Given the description of an element on the screen output the (x, y) to click on. 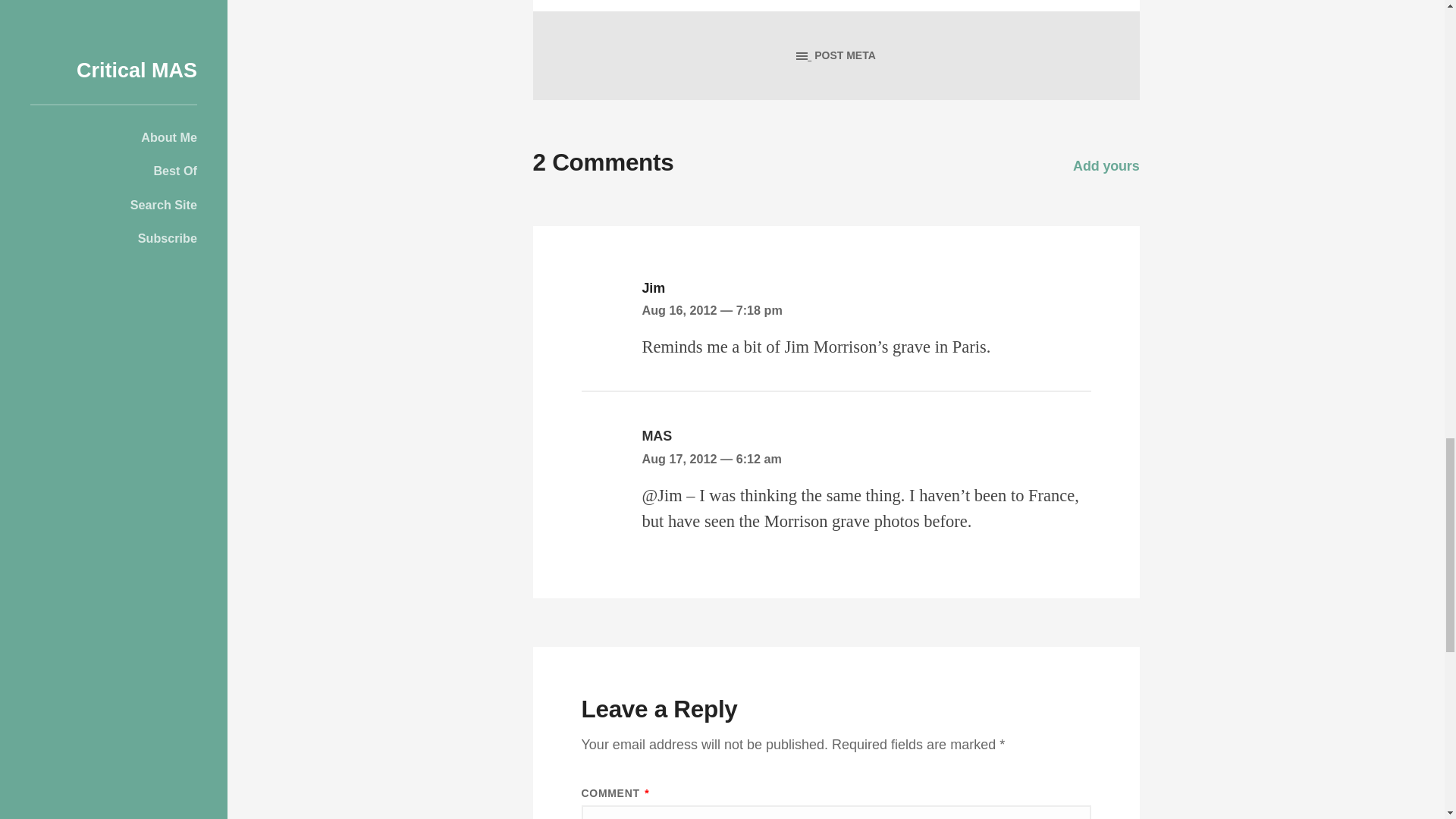
POST META (835, 55)
Add yours (1105, 165)
MAS (656, 435)
